Given the description of an element on the screen output the (x, y) to click on. 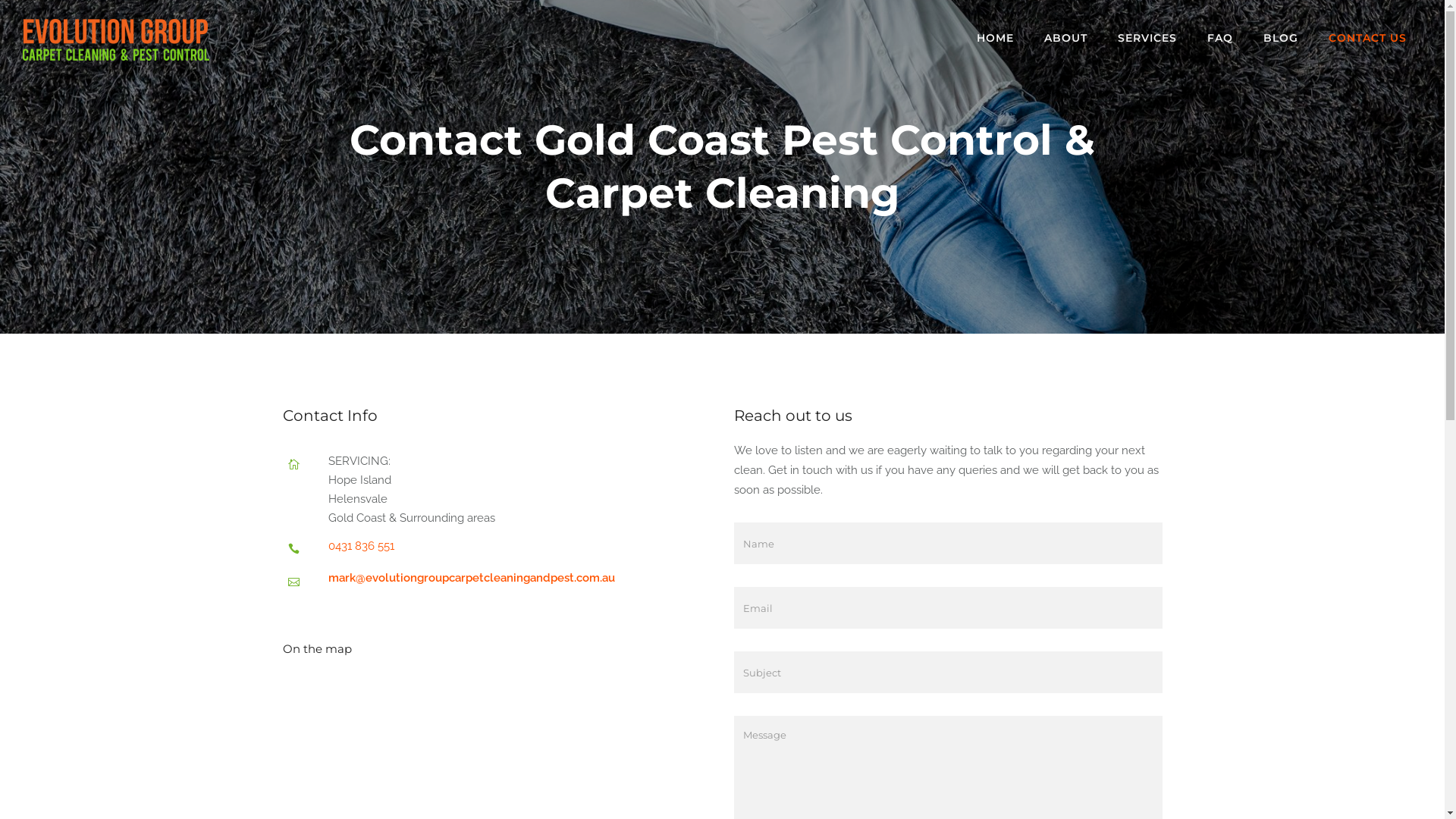
FAQ Element type: text (1220, 37)
mark@evolutiongroupcarpetcleaningandpest.com.au Element type: text (470, 577)
BLOG Element type: text (1280, 37)
ABOUT Element type: text (1065, 37)
0431 836 551 Element type: text (360, 545)
CONTACT US Element type: text (1367, 37)
HOME Element type: text (995, 37)
SERVICES Element type: text (1147, 37)
